Given the description of an element on the screen output the (x, y) to click on. 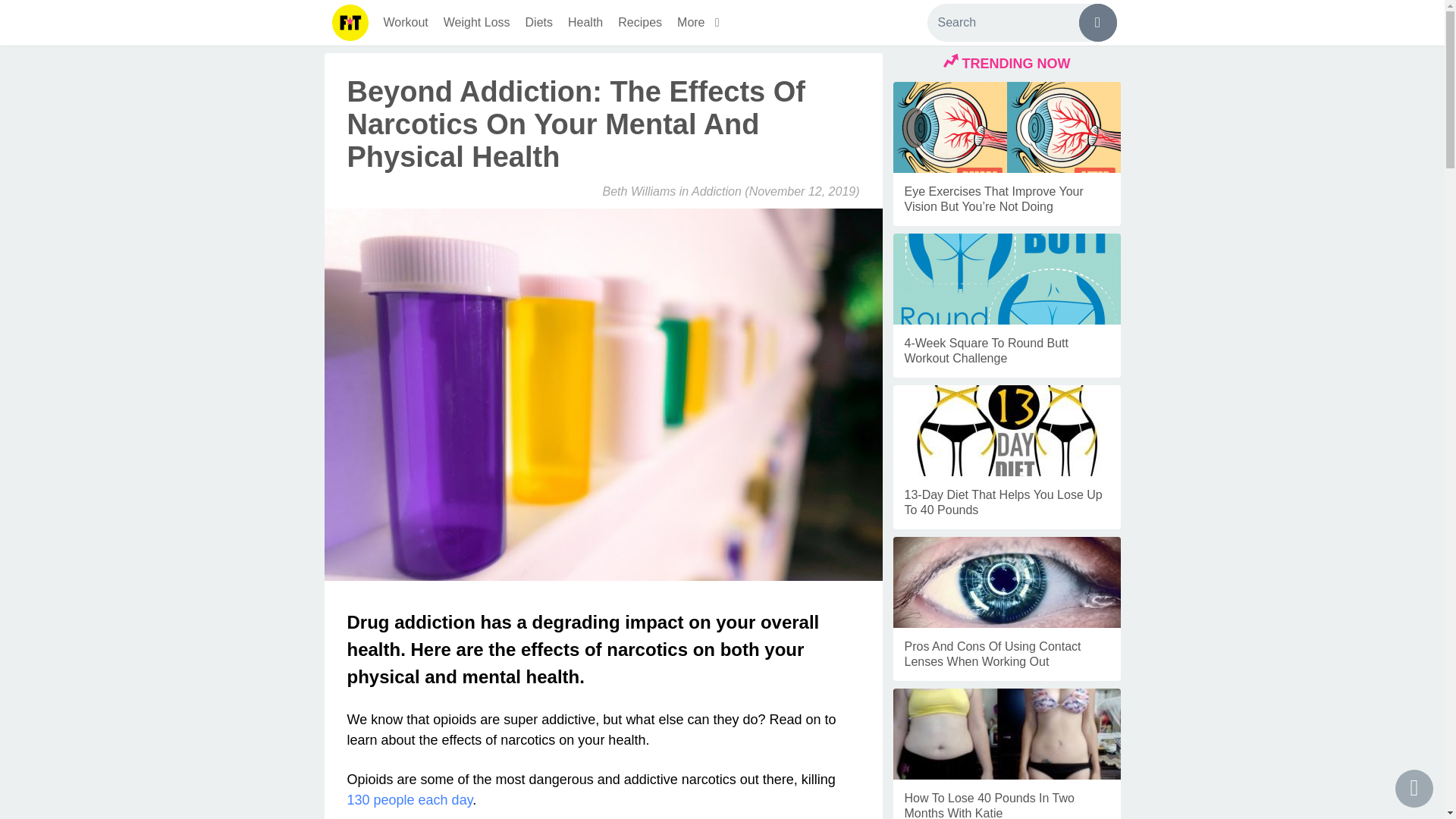
Addiction (716, 191)
Diets (539, 22)
Posts by Beth Williams (639, 191)
130 people each day (410, 799)
Recipes (639, 22)
More (701, 22)
Weight Loss (476, 22)
Beth Williams (639, 191)
Health (585, 22)
Workout (405, 22)
